Given the description of an element on the screen output the (x, y) to click on. 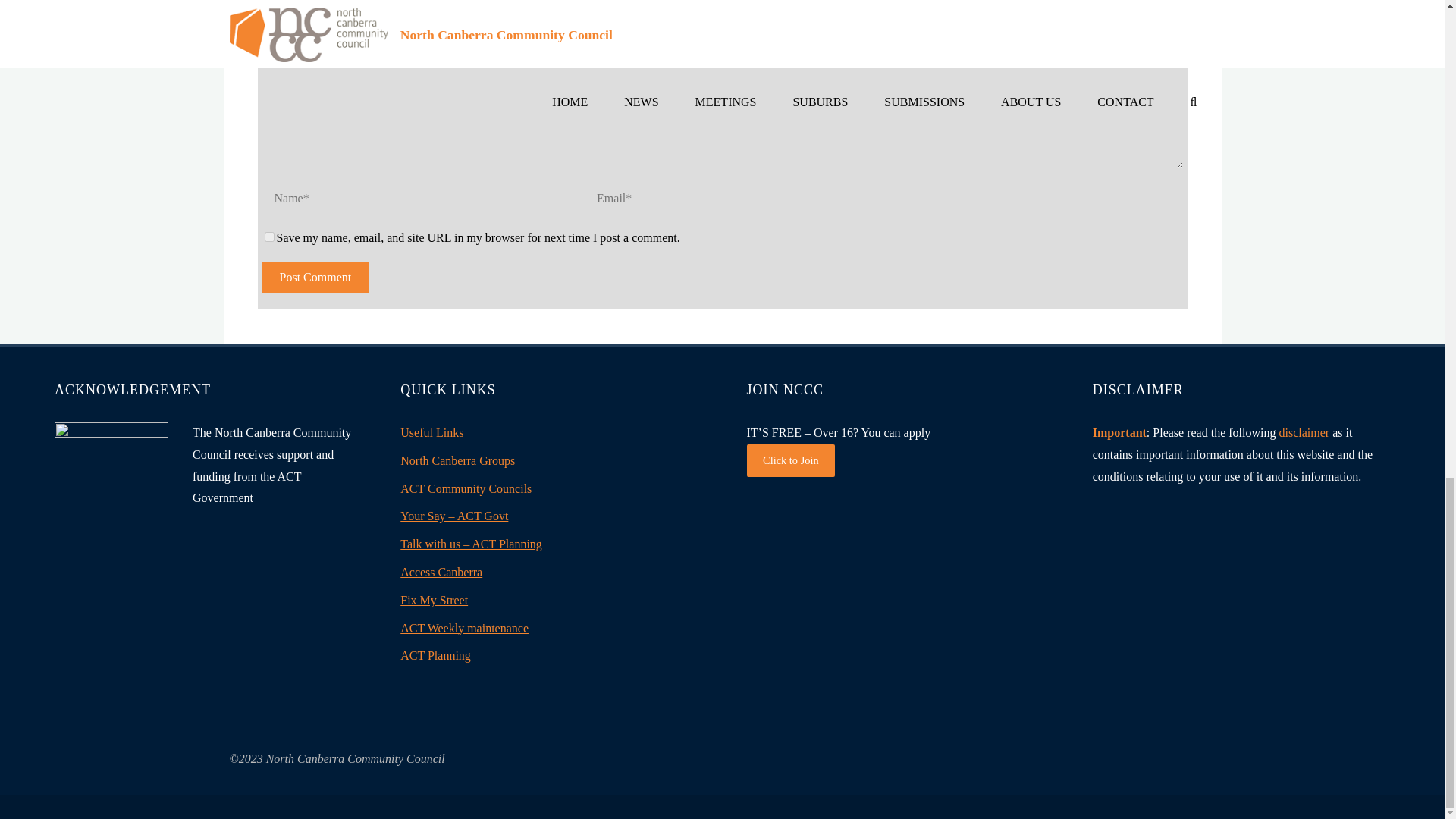
ACT Planning (435, 655)
Useful Links (431, 431)
Access Canberra (440, 571)
ACT Community Councils (465, 488)
North Canberra Groups (457, 460)
Post Comment (314, 277)
Fix My Street (433, 599)
Click to Join (789, 460)
yes (268, 236)
ACT Weekly maintenance (464, 627)
